Given the description of an element on the screen output the (x, y) to click on. 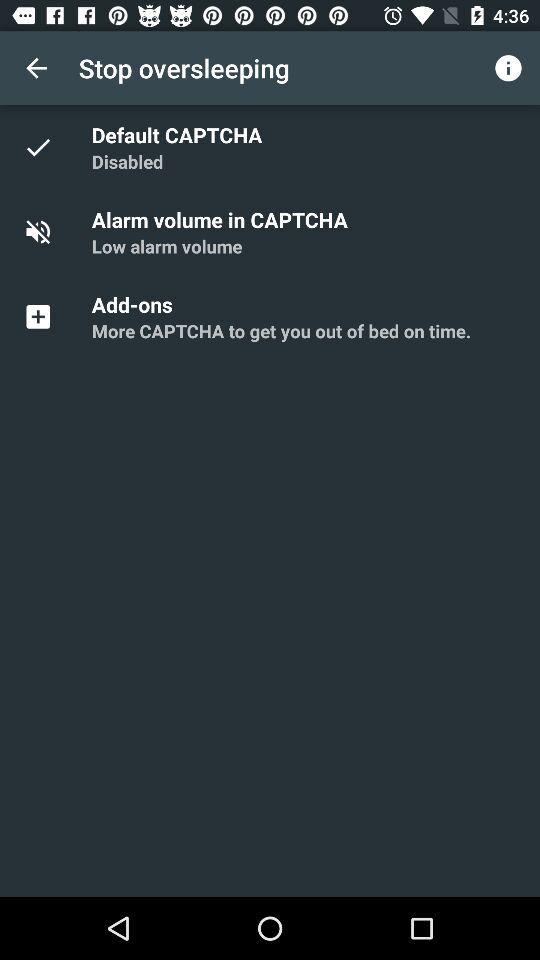
tap the more captcha to at the center (281, 330)
